Given the description of an element on the screen output the (x, y) to click on. 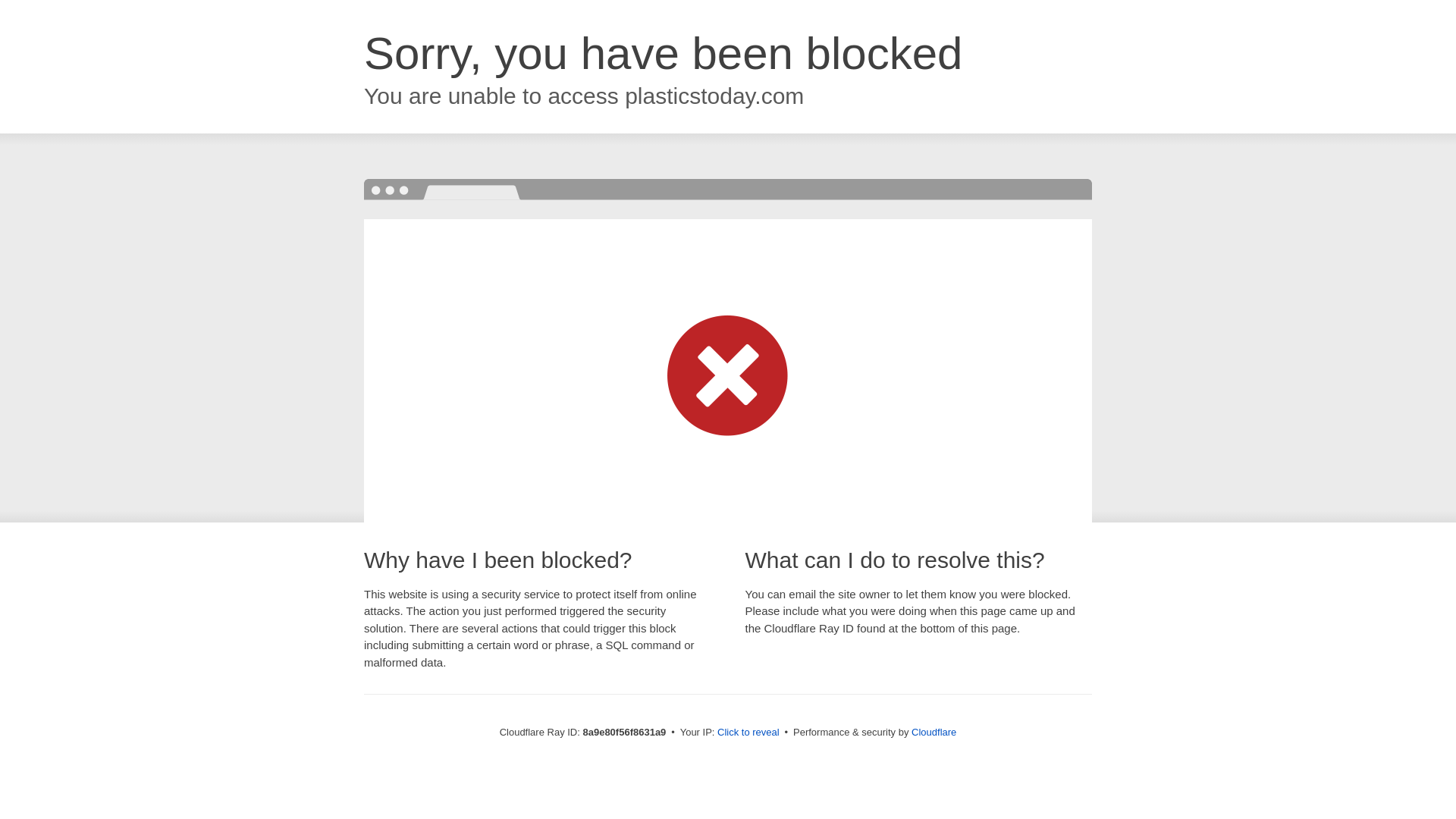
Cloudflare (933, 731)
Click to reveal (747, 732)
